Given the description of an element on the screen output the (x, y) to click on. 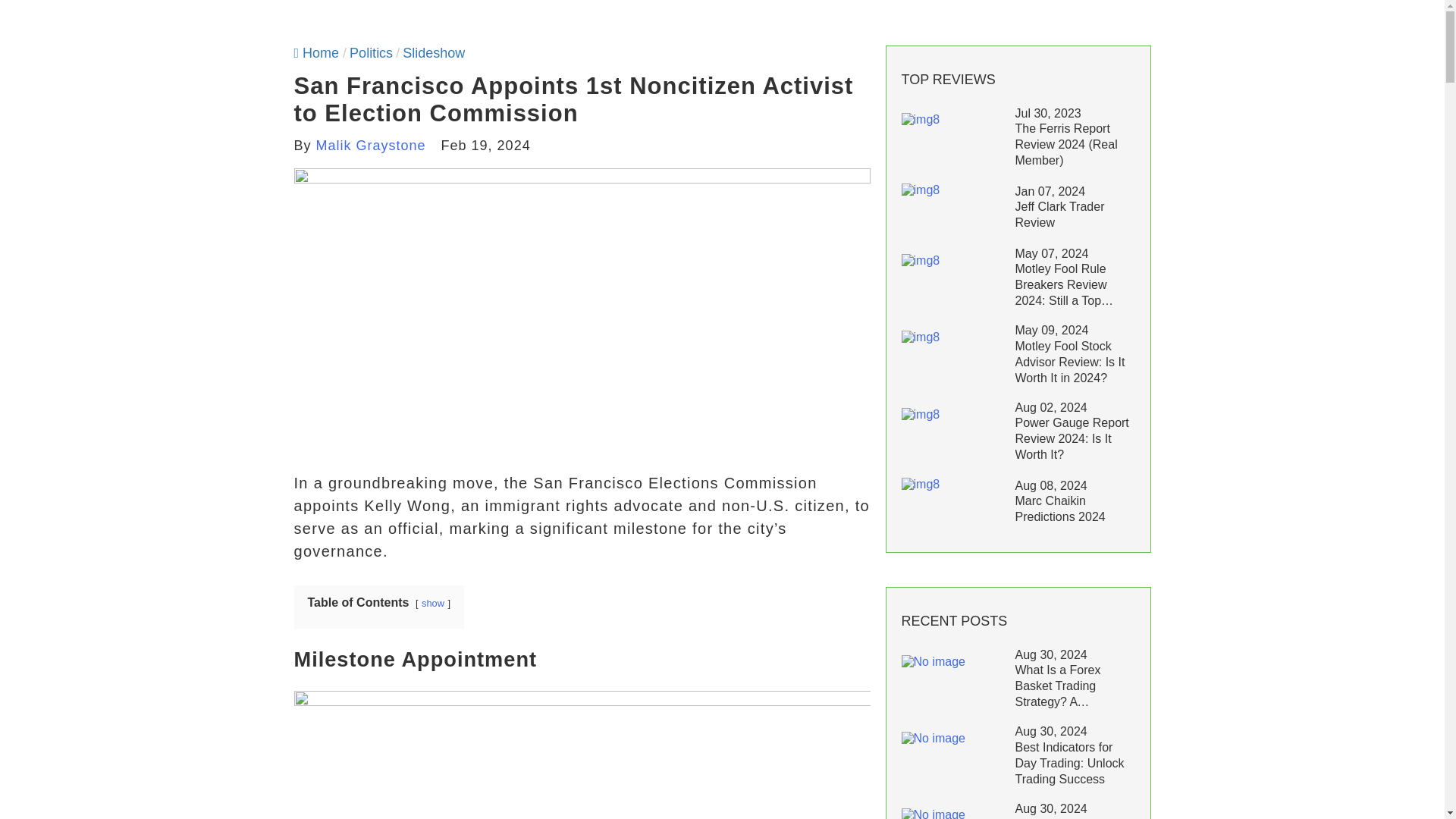
Malik Graystone (370, 145)
Slideshow (433, 52)
Category Name (371, 52)
show (433, 603)
Slideshow (433, 52)
Home (316, 52)
Politics (371, 52)
